Given the description of an element on the screen output the (x, y) to click on. 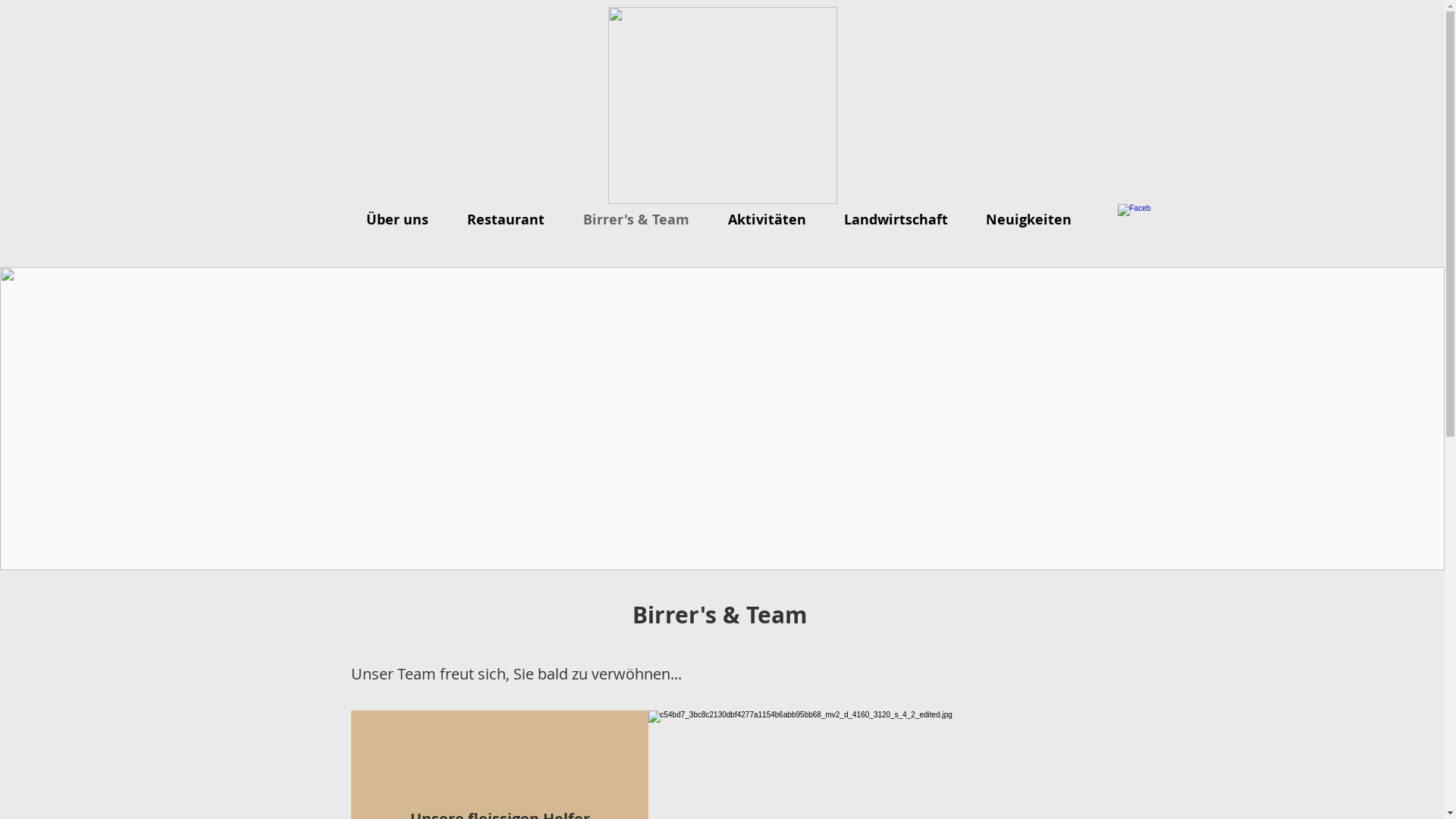
Restaurant Element type: text (509, 219)
Neuigkeiten Element type: text (1032, 219)
Birrer's & Team Element type: text (639, 219)
Landwirtschaft Element type: text (898, 219)
